Given the description of an element on the screen output the (x, y) to click on. 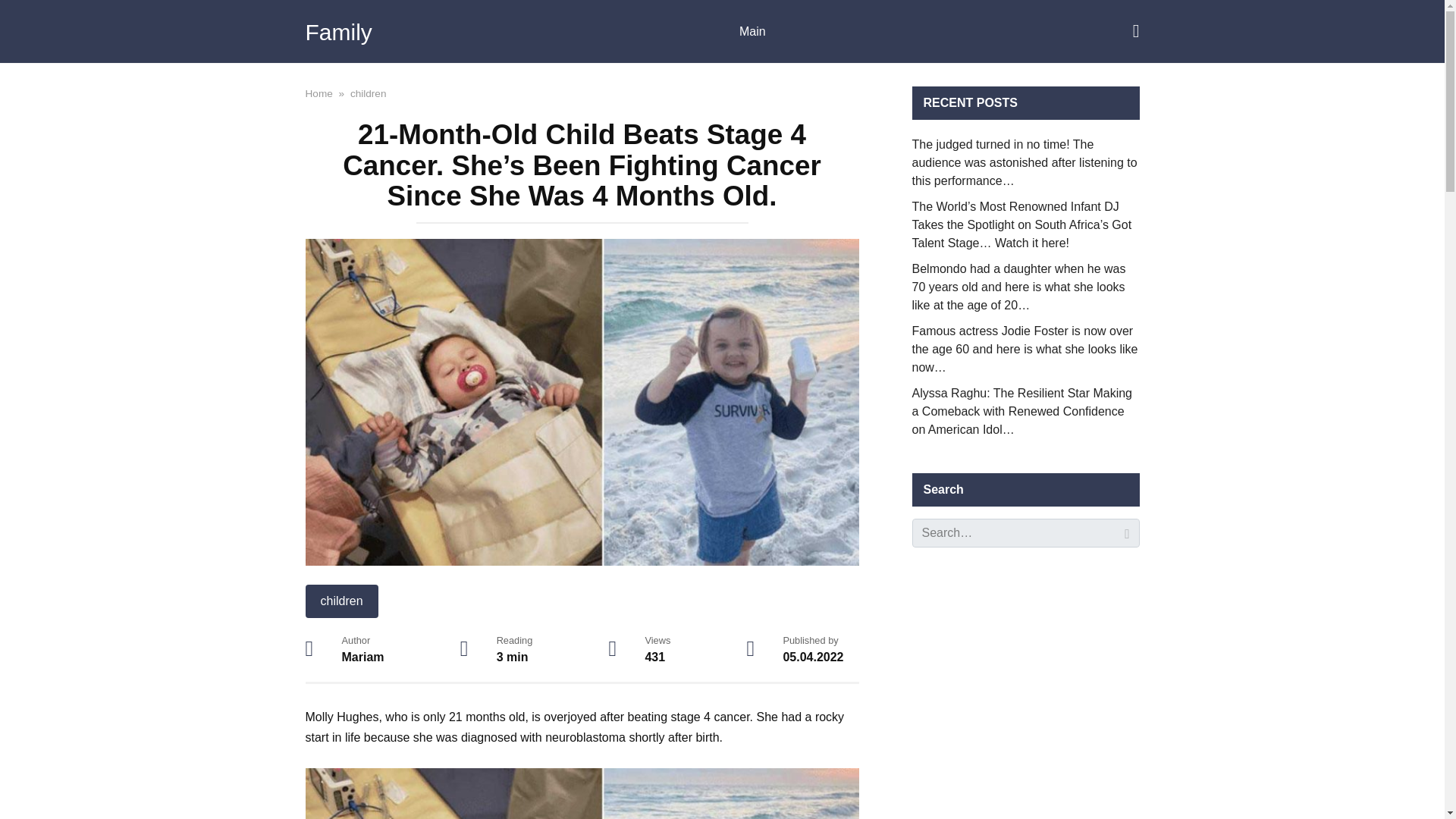
Main (752, 31)
Family (337, 32)
children (368, 93)
children (340, 601)
Home (317, 93)
